Given the description of an element on the screen output the (x, y) to click on. 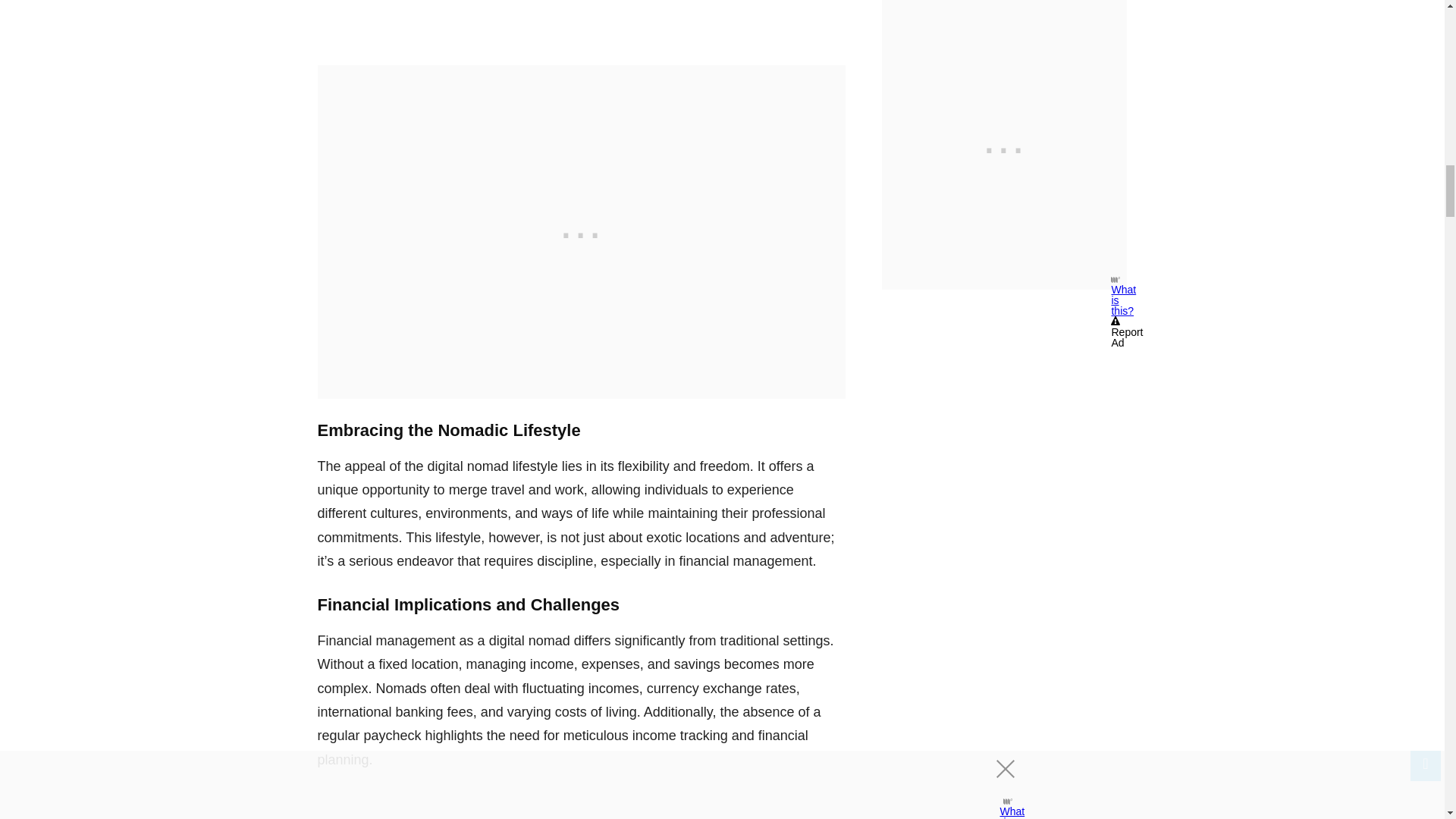
The Truth About Being a Digital Nomad (580, 18)
